Given the description of an element on the screen output the (x, y) to click on. 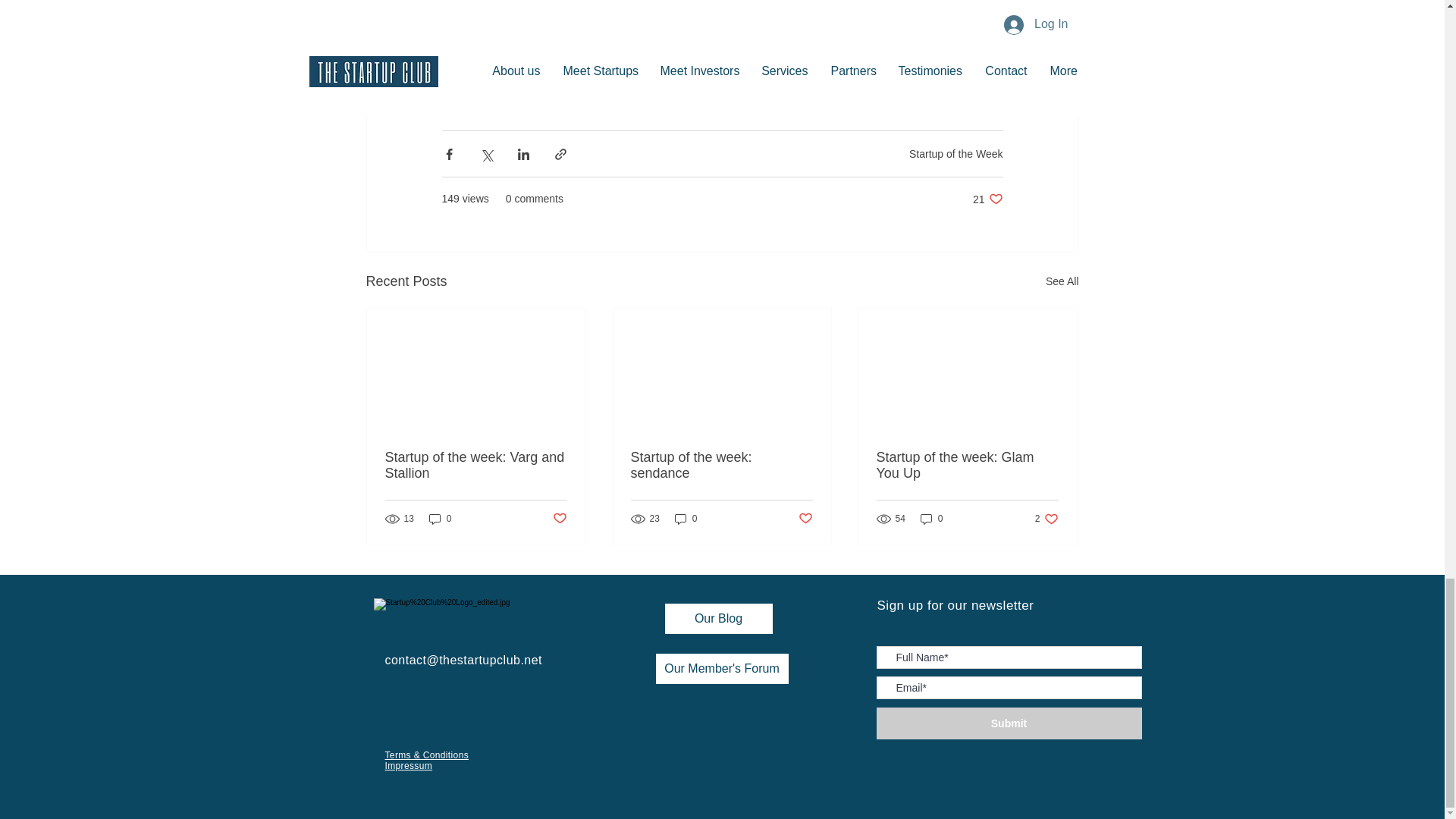
Startup of the week: Varg and Stallion (476, 465)
0 (987, 198)
Startup of the Week (685, 518)
See All (955, 153)
Startup of the week: sendance (1061, 281)
Post not marked as liked (721, 465)
0 (558, 519)
